Given the description of an element on the screen output the (x, y) to click on. 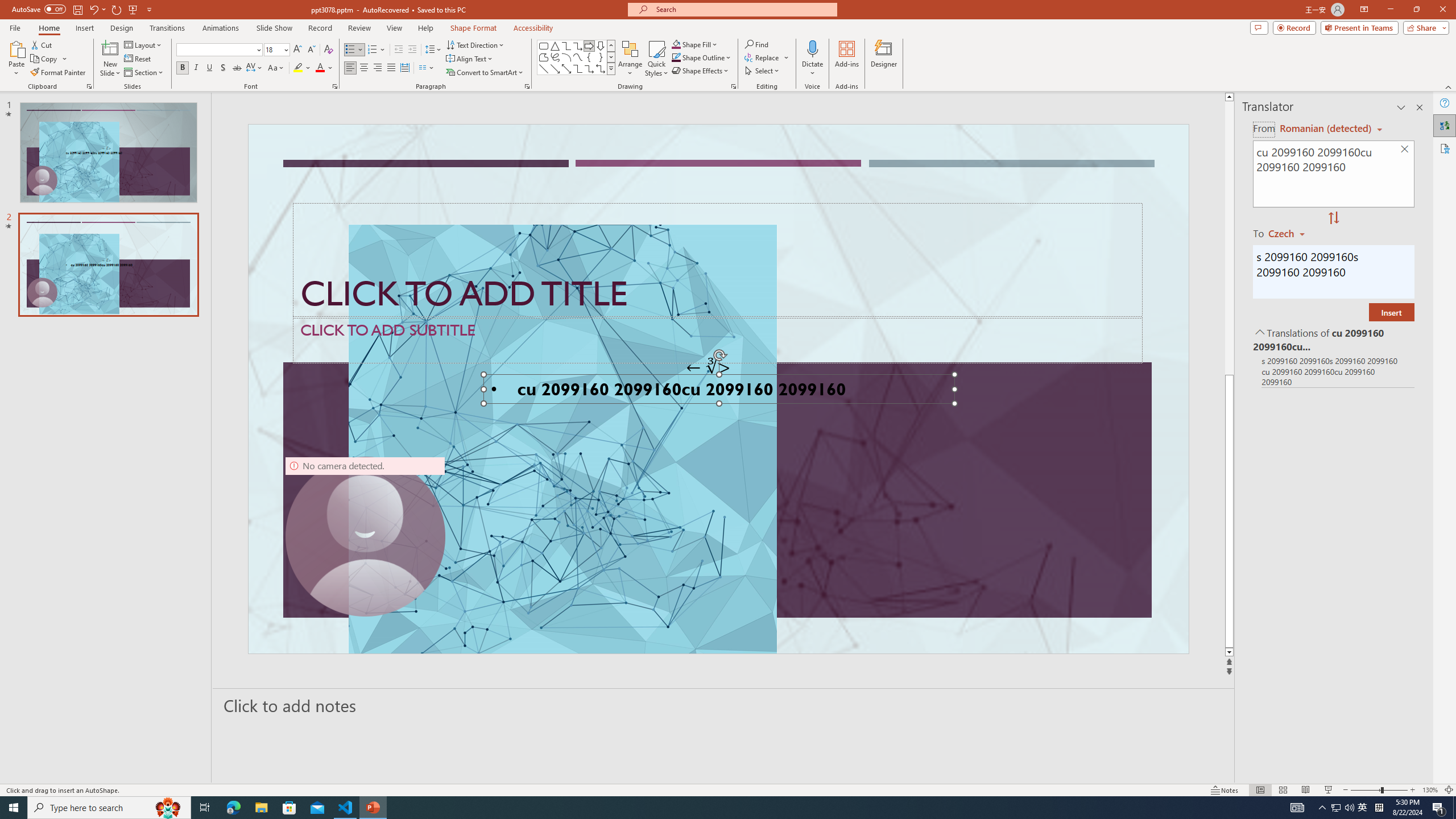
Clear text (1404, 149)
Czech (detected) (1323, 128)
